Given the description of an element on the screen output the (x, y) to click on. 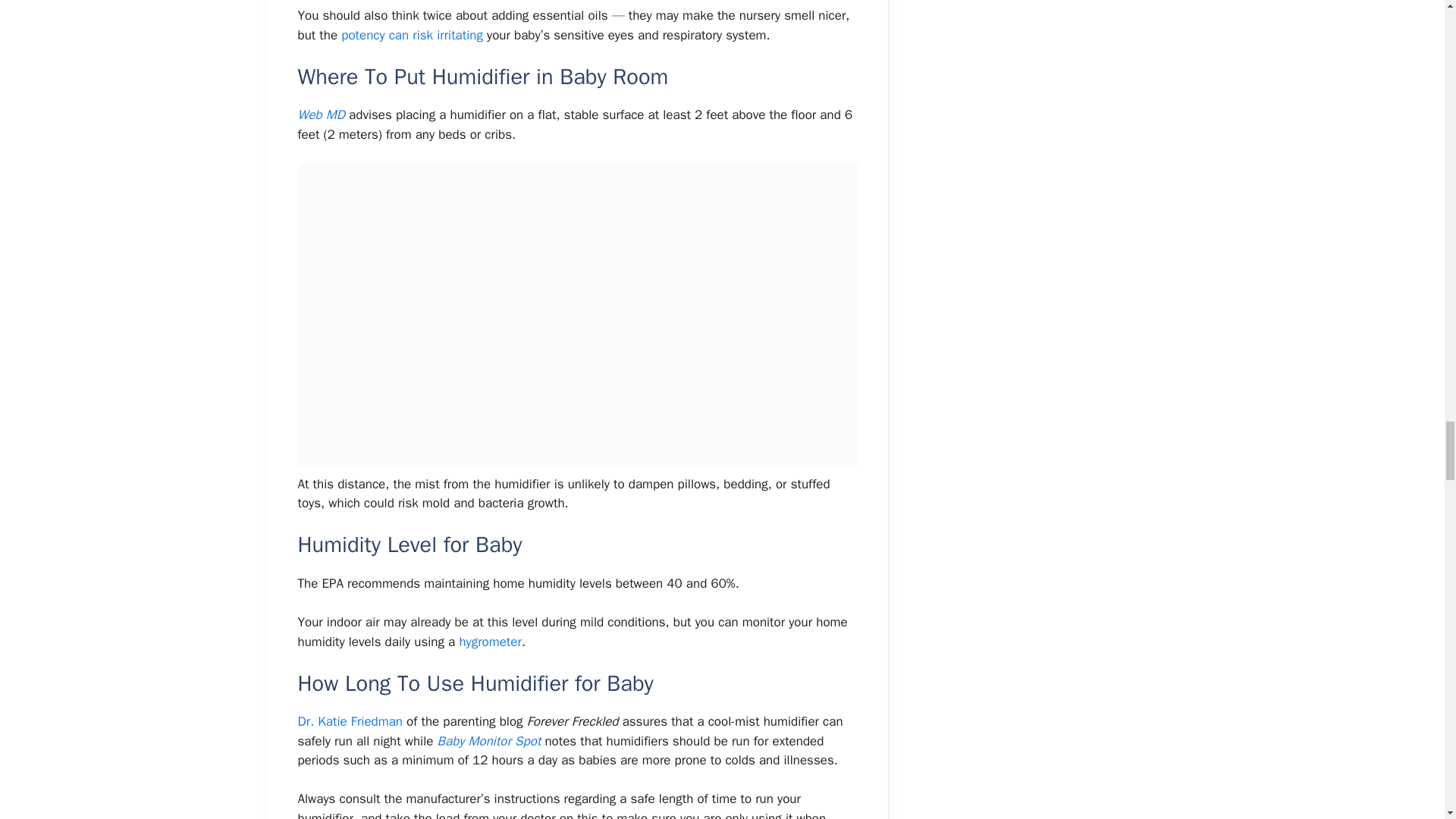
Web MD (321, 114)
hygrometer (489, 641)
potency can risk irritating (410, 35)
Dr. Katie Friedman (350, 721)
